Given the description of an element on the screen output the (x, y) to click on. 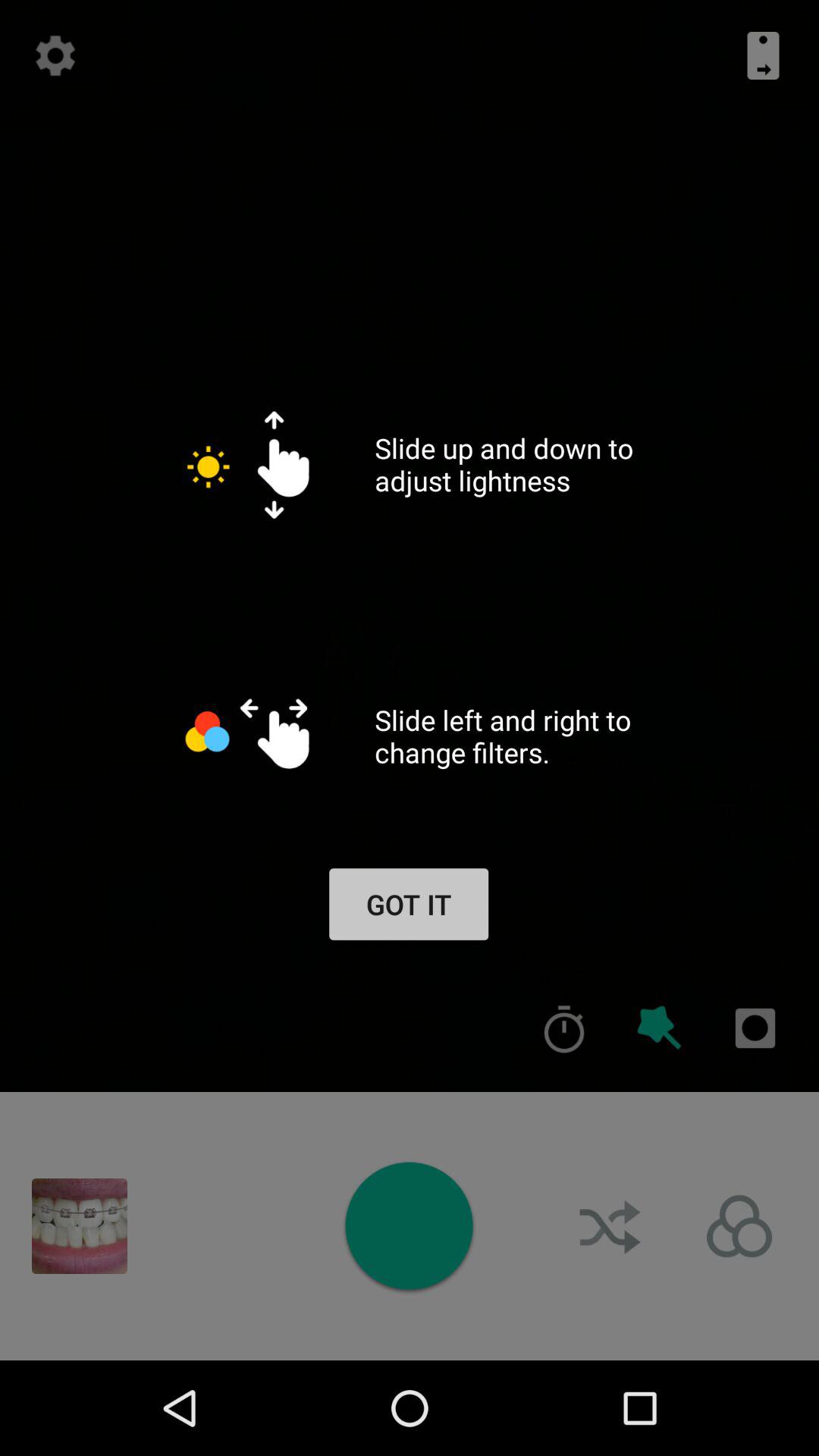
photo timer (563, 1028)
